Given the description of an element on the screen output the (x, y) to click on. 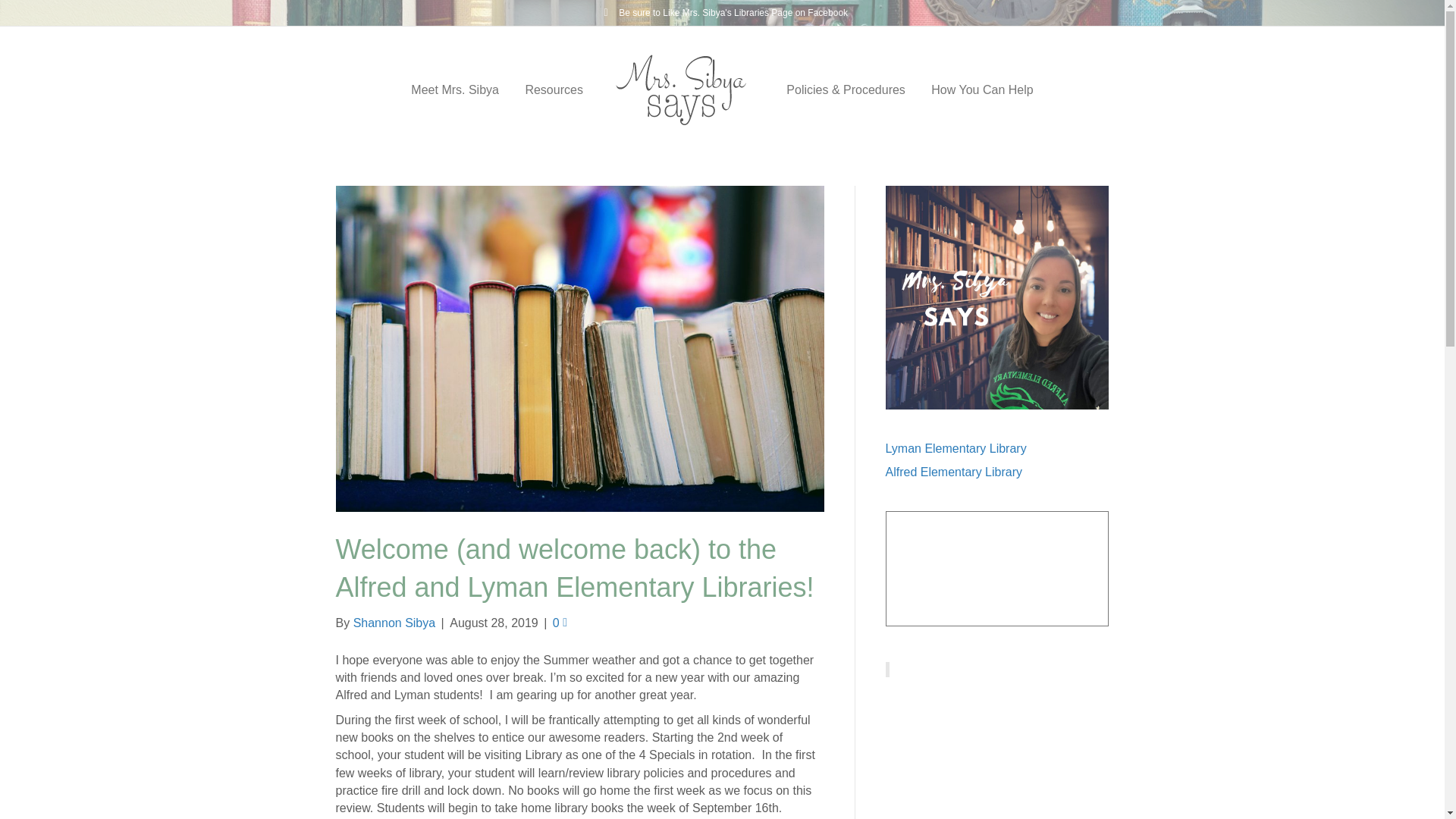
Alfred Elementary Library (954, 472)
0 (560, 622)
Shannon Sibya (394, 622)
Meet Mrs. Sibya (454, 89)
How You Can Help (981, 89)
Facebook (605, 11)
Resources (553, 89)
Lyman Elementary Library (955, 448)
